Given the description of an element on the screen output the (x, y) to click on. 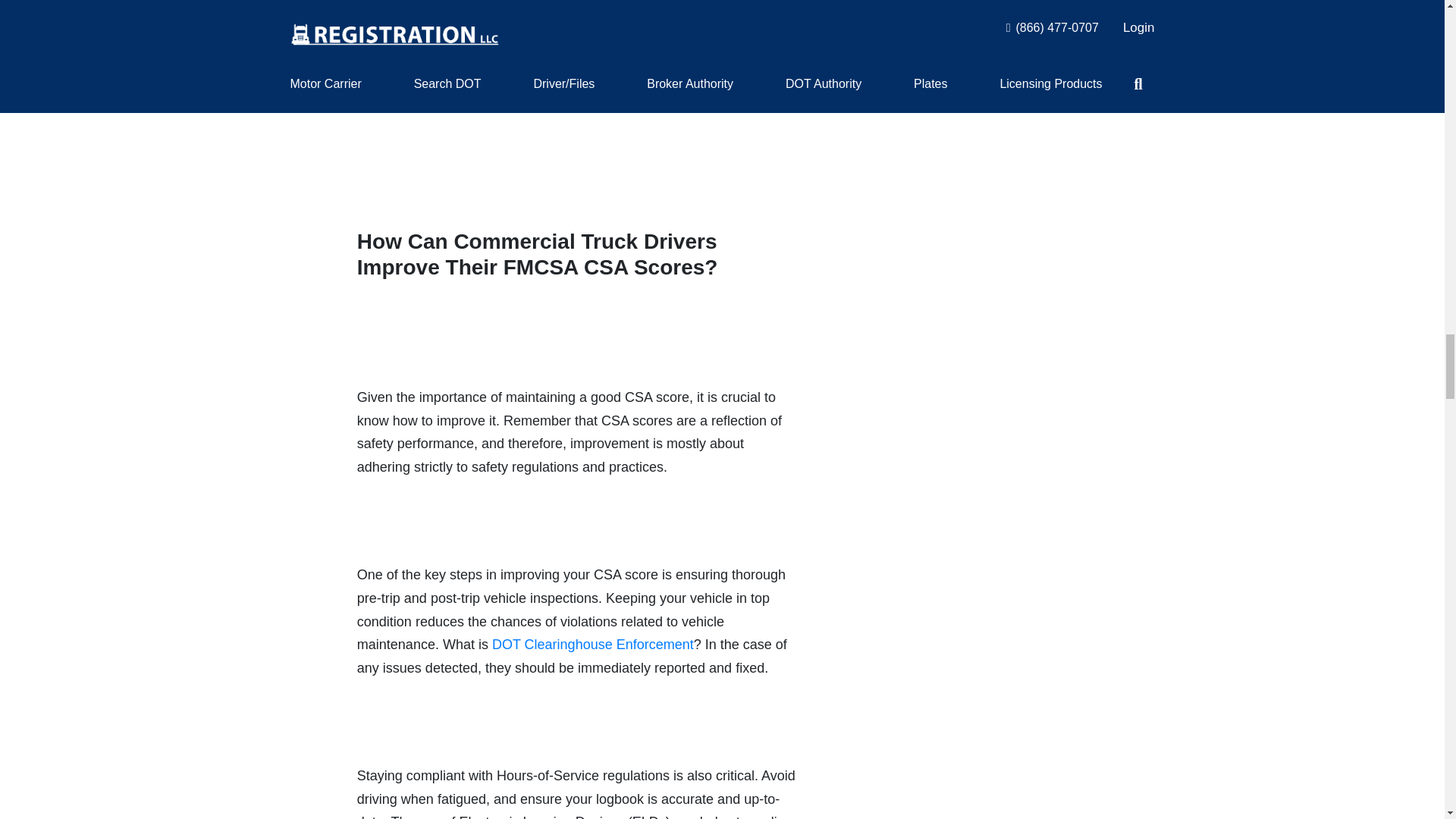
FMCSA Violation Points (429, 76)
FMCSA DAC Report (571, 7)
DOT Clearinghouse Enforcement (593, 644)
